Given the description of an element on the screen output the (x, y) to click on. 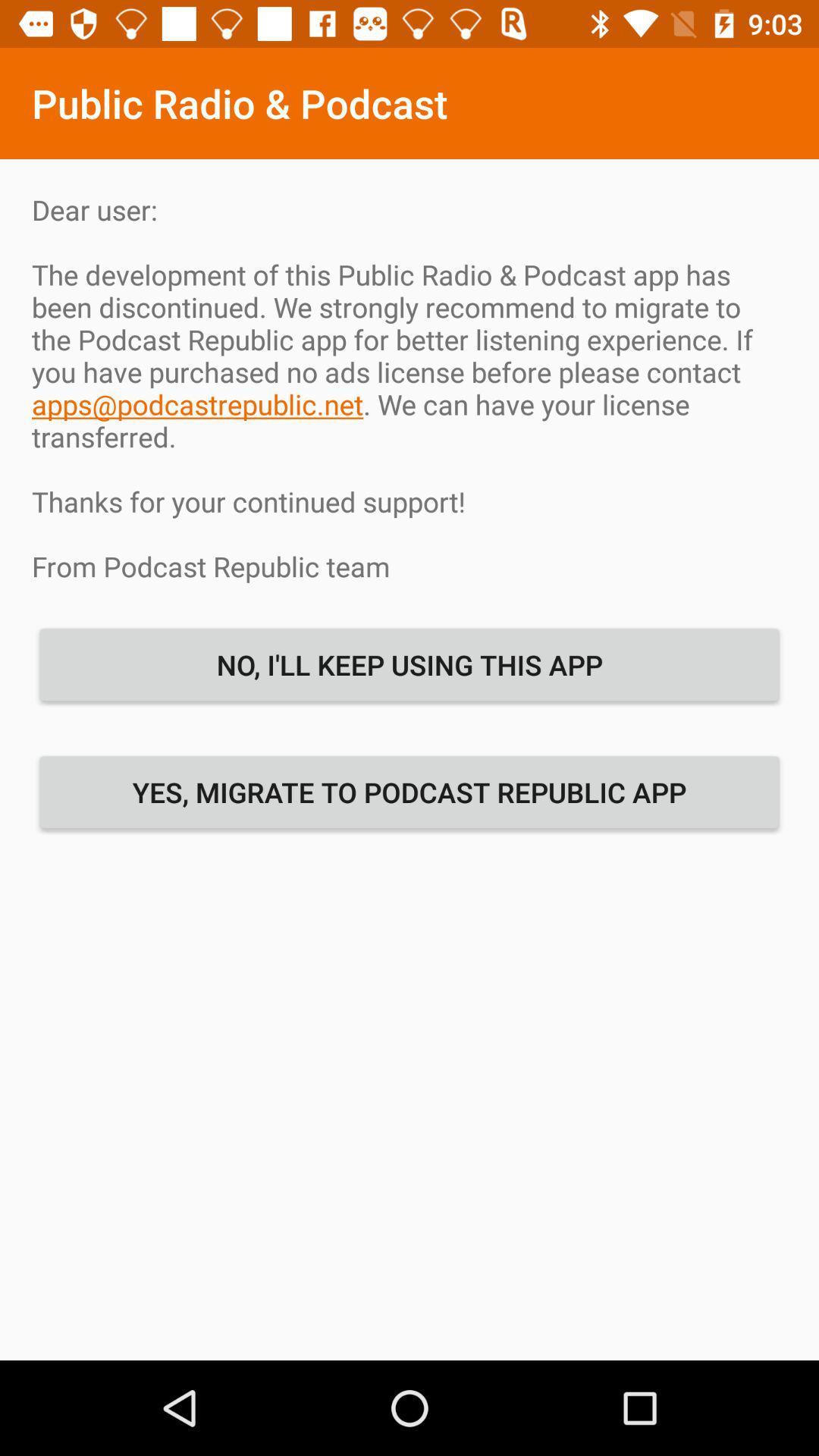
launch yes migrate to icon (409, 792)
